Given the description of an element on the screen output the (x, y) to click on. 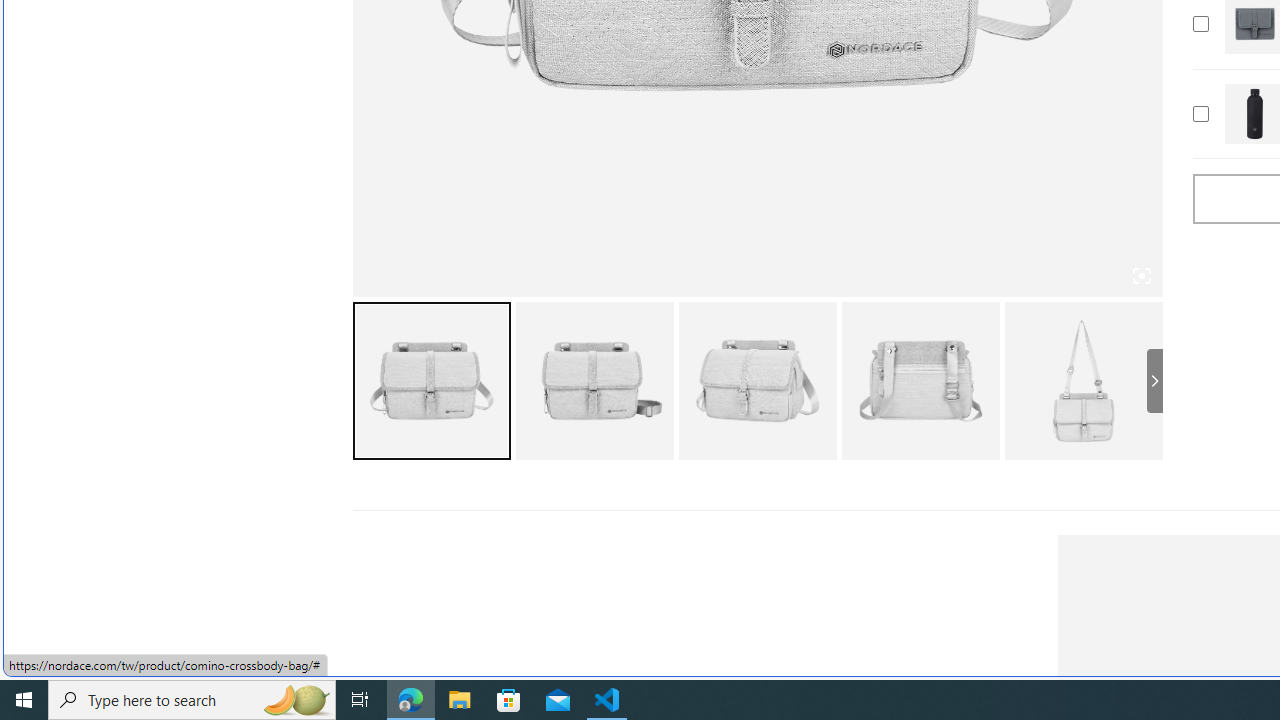
Add this product to cart (1200, 114)
Class: iconic-woothumbs-fullscreen (1140, 276)
